Given the description of an element on the screen output the (x, y) to click on. 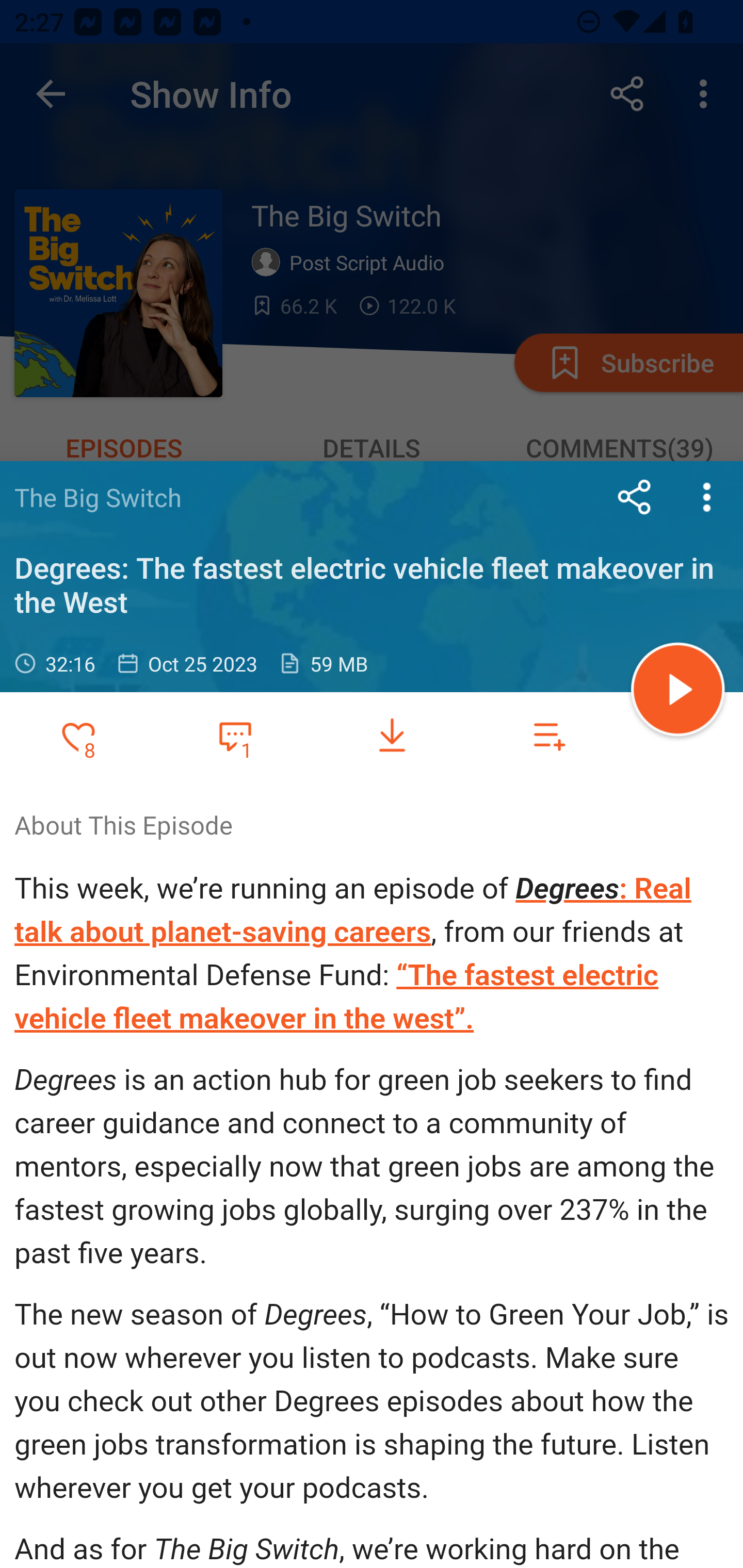
Share (634, 496)
more options (706, 496)
Play (677, 692)
1 Favorite (234, 735)
Add to Favorites (78, 735)
Download (391, 735)
Add to playlist (548, 735)
